Given the description of an element on the screen output the (x, y) to click on. 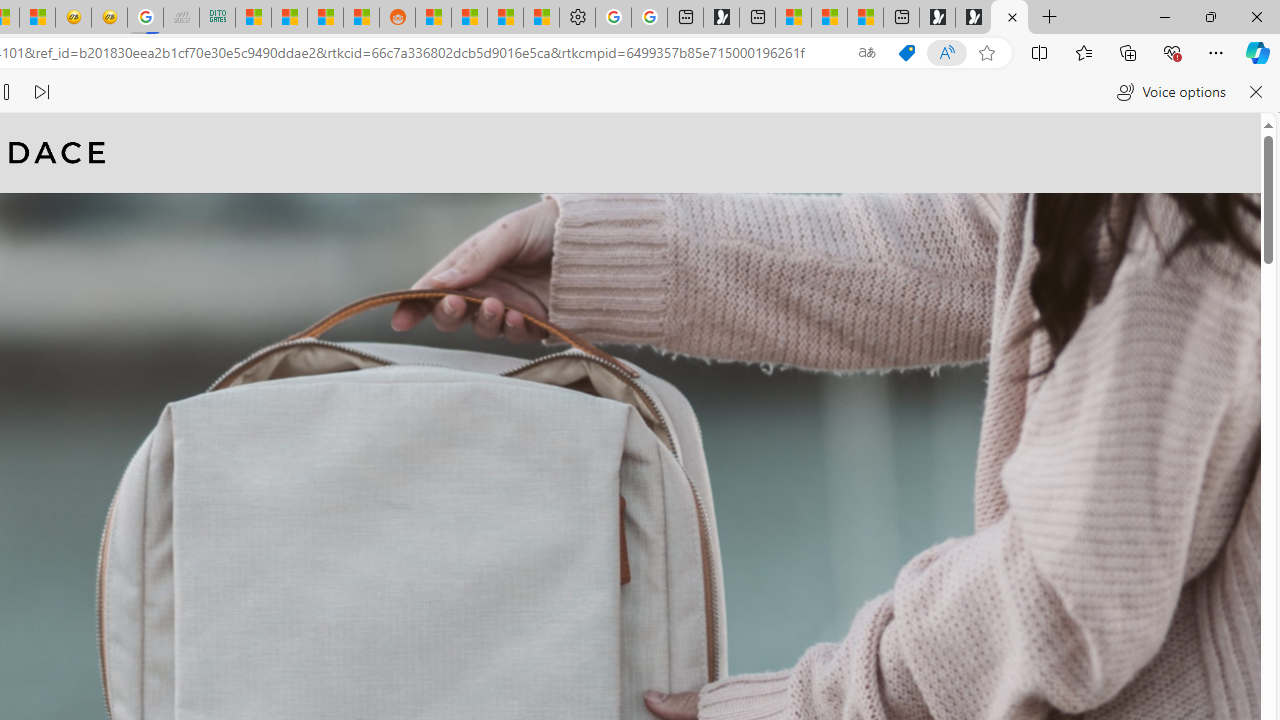
R******* | Trusted Community Engagement and Contributions (433, 17)
Read next paragraph (40, 92)
Navy Quest (180, 17)
MSNBC - MSN (253, 17)
Close read aloud (1255, 92)
